Given the description of an element on the screen output the (x, y) to click on. 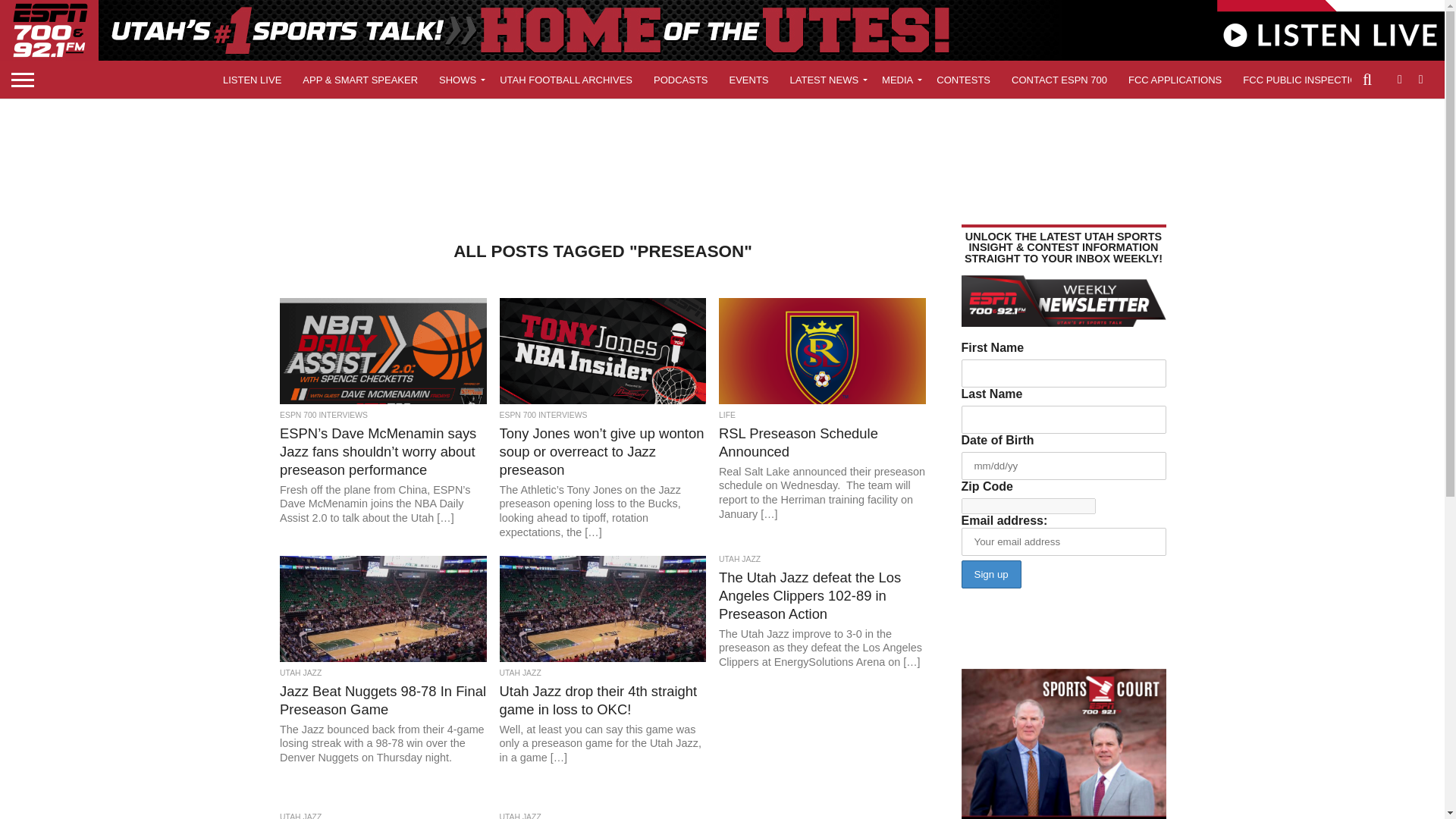
Sign up (991, 574)
Advertisement (721, 156)
SHOWS (458, 79)
EVENTS (748, 79)
PODCASTS (681, 79)
LATEST NEWS (825, 79)
LISTEN LIVE (252, 79)
UTAH FOOTBALL ARCHIVES (566, 79)
